Given the description of an element on the screen output the (x, y) to click on. 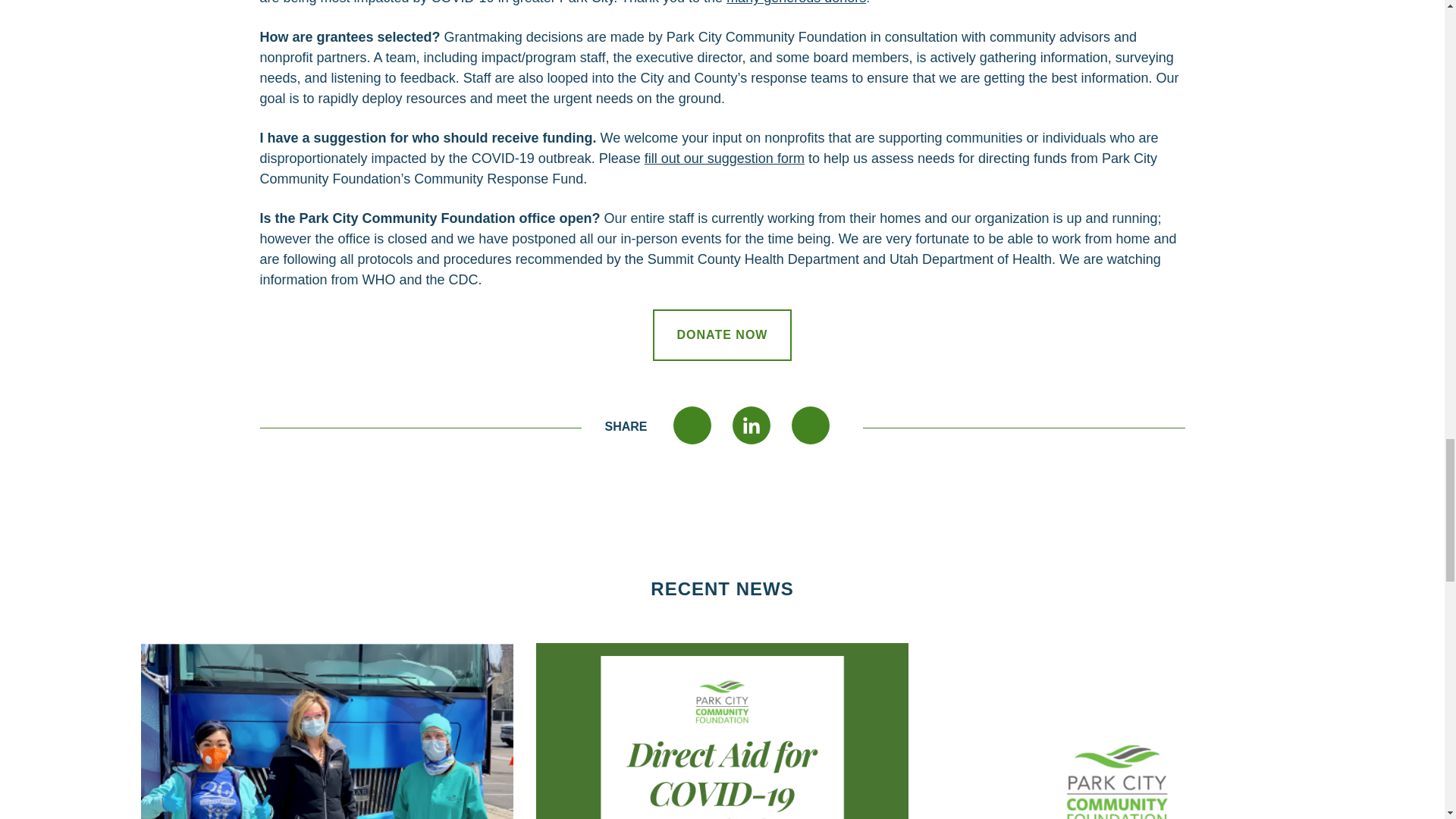
LinkedIn (751, 426)
Facebook (691, 426)
